Given the description of an element on the screen output the (x, y) to click on. 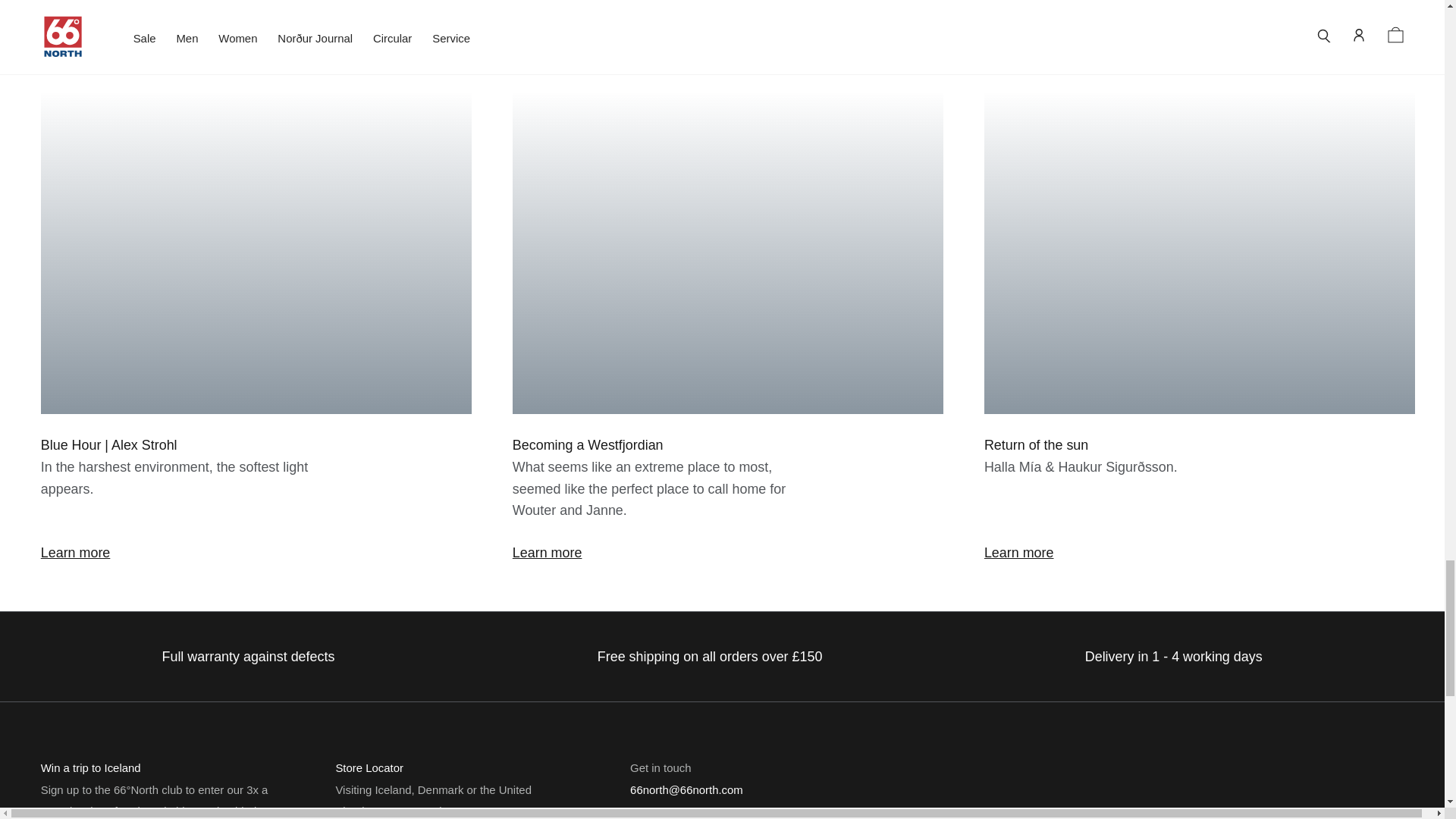
Learn more (1019, 552)
Learn more (75, 552)
Learn more (547, 552)
